Given the description of an element on the screen output the (x, y) to click on. 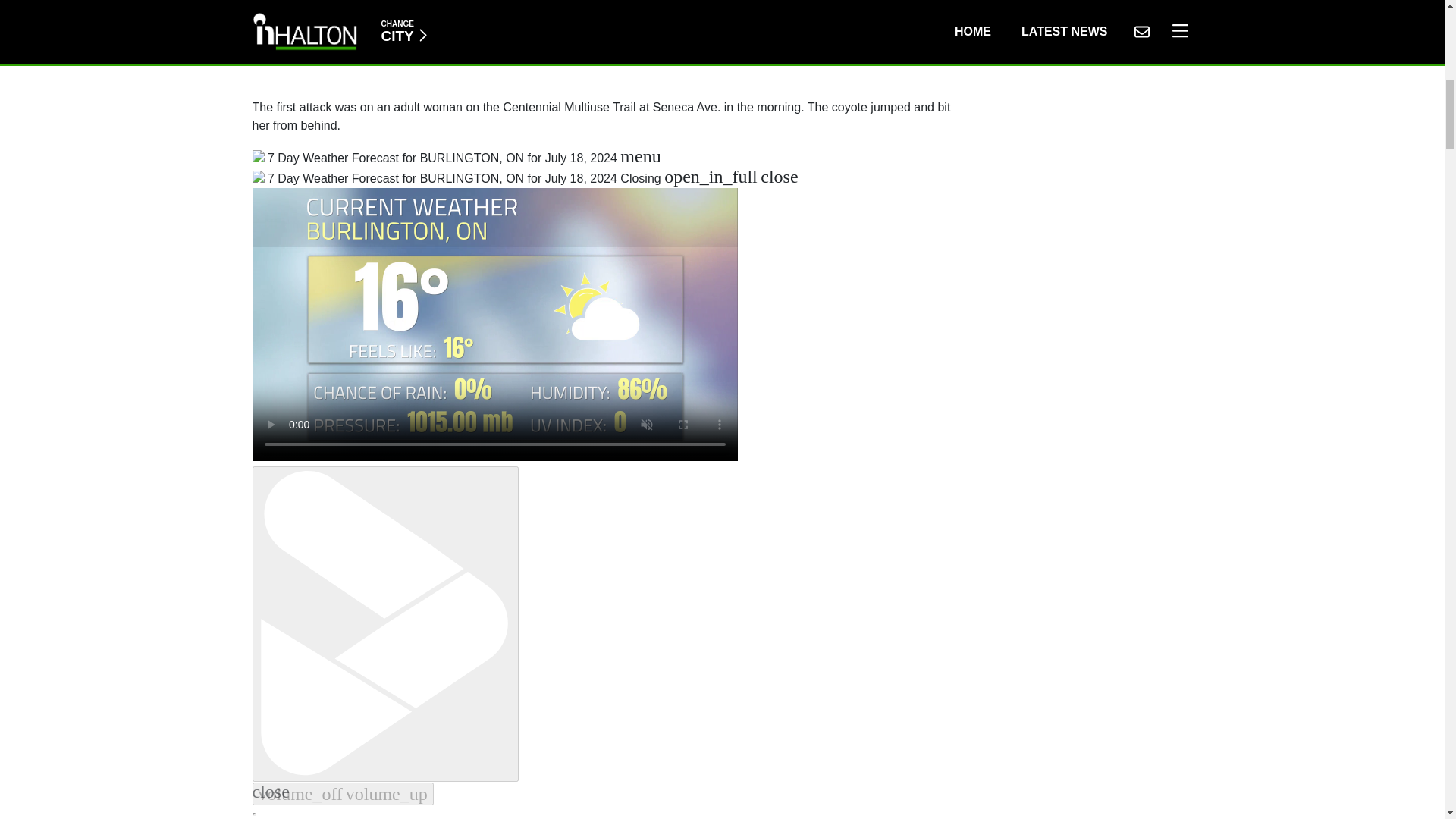
3rd party ad content (601, 41)
